Given the description of an element on the screen output the (x, y) to click on. 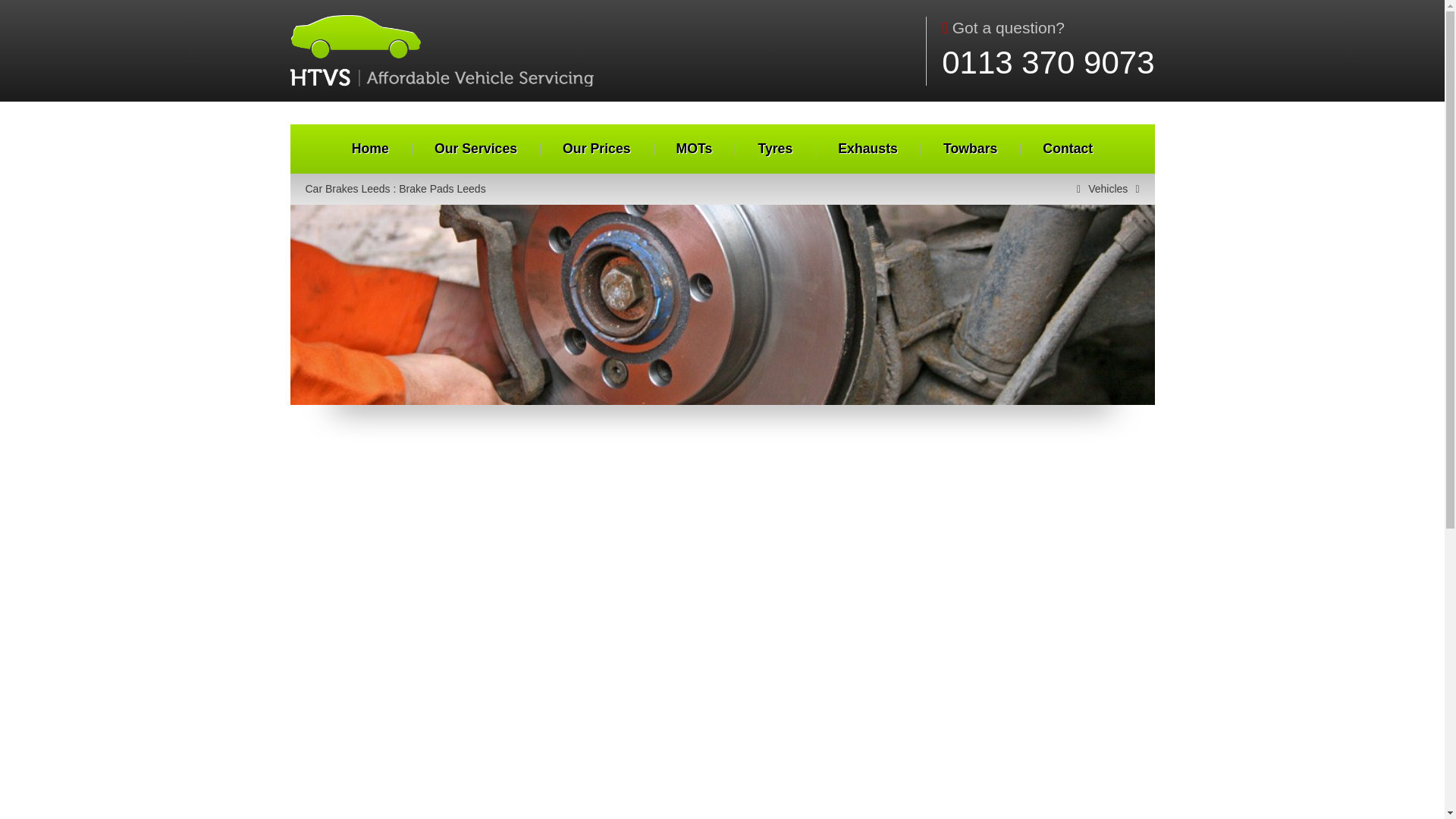
MOTs (694, 148)
Our Prices (596, 148)
Towbars (970, 148)
0113 370 9073 (1048, 62)
Our Services (476, 148)
Exhausts (867, 148)
Tyres (775, 148)
Home (370, 148)
Vehicles (1107, 188)
Contact (1067, 148)
Call me back! (389, 606)
